Given the description of an element on the screen output the (x, y) to click on. 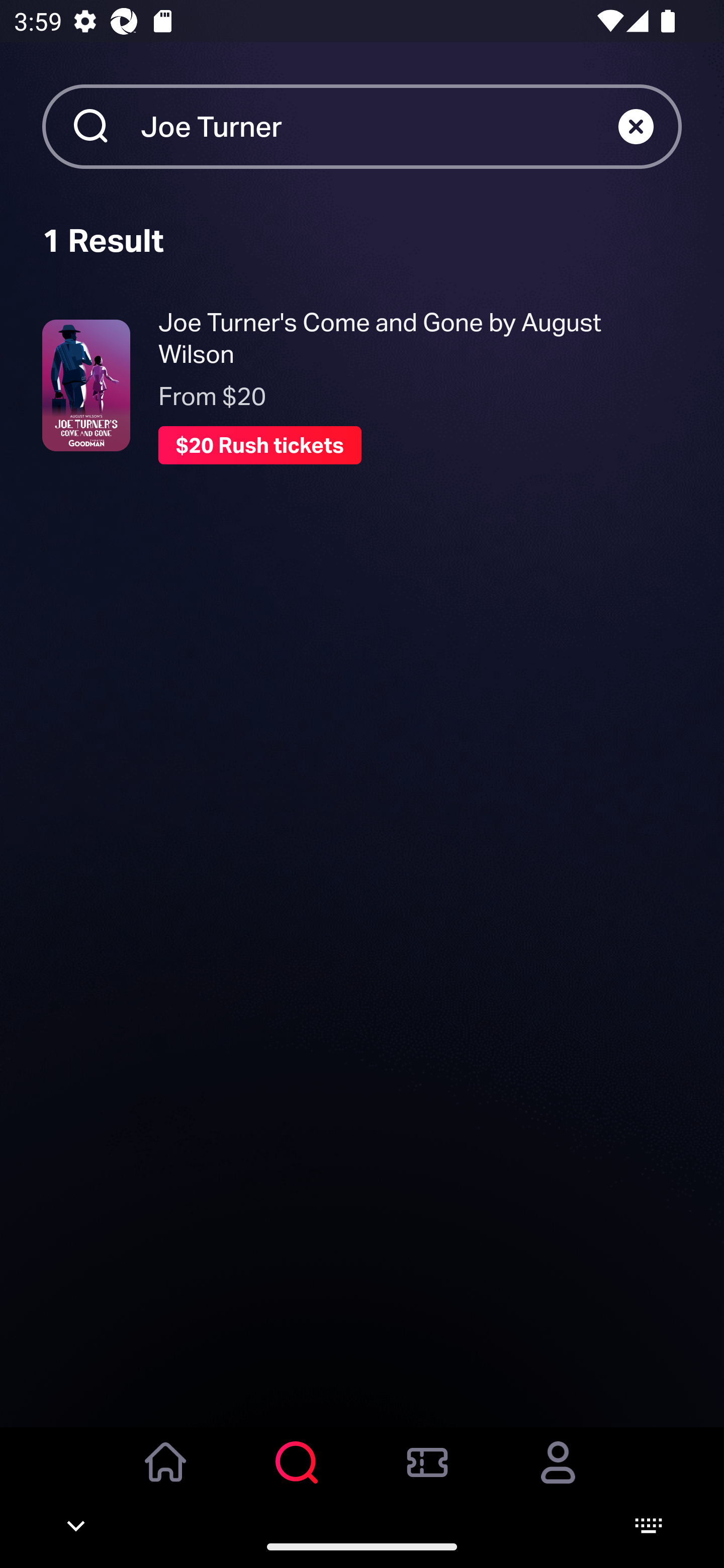
Joe Turner (379, 126)
Home (165, 1475)
Orders (427, 1475)
Account (558, 1475)
